Given the description of an element on the screen output the (x, y) to click on. 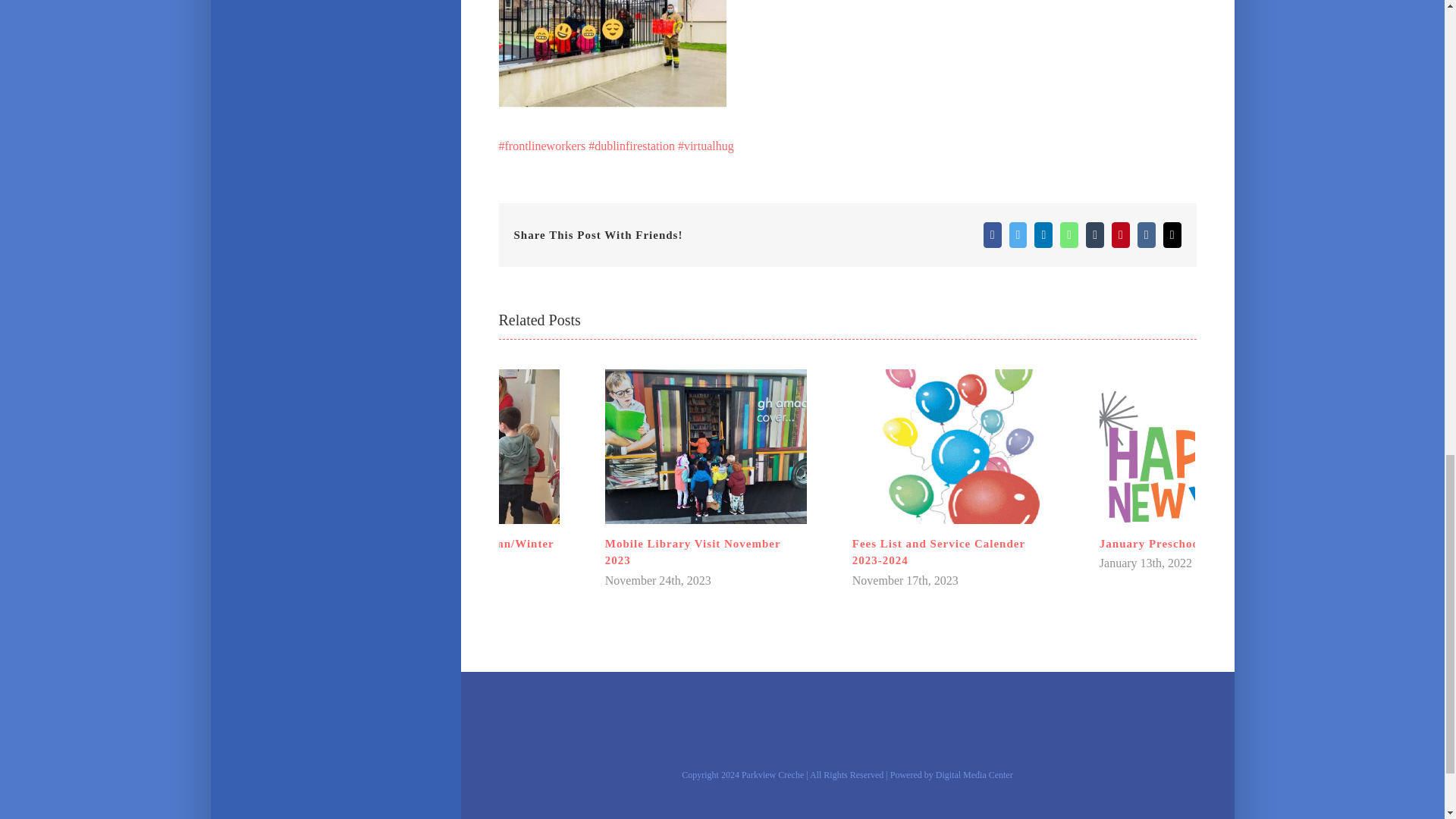
Fees List and Service Calender 2023-2024 (938, 552)
Mobile Library Visit November 2023 (692, 552)
January Preschool Newsletter (1182, 543)
Mobile Library Visit November 2023 (692, 552)
